Given the description of an element on the screen output the (x, y) to click on. 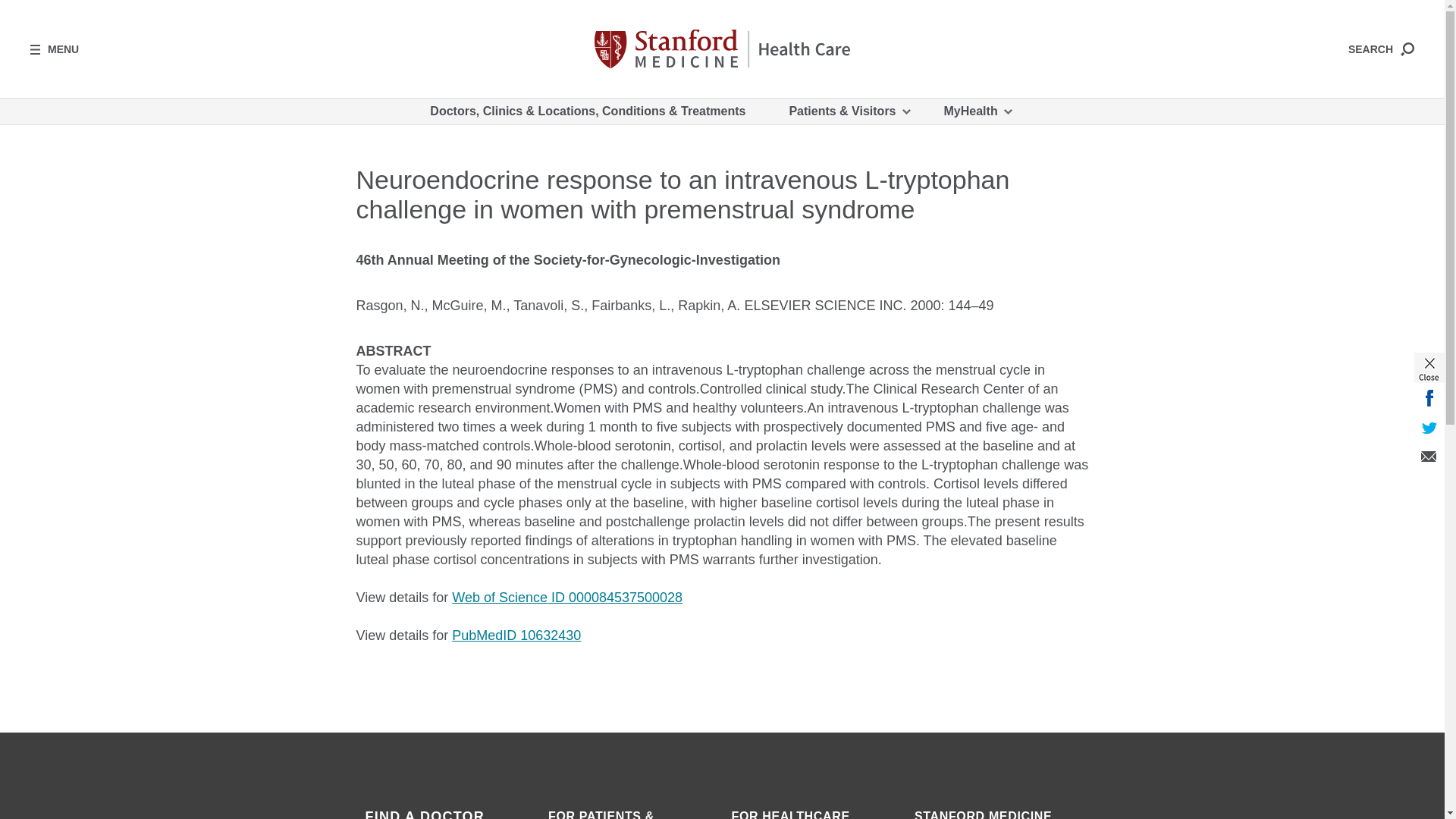
MyHealth (976, 110)
MENU (54, 49)
SEARCH (1380, 49)
